Given the description of an element on the screen output the (x, y) to click on. 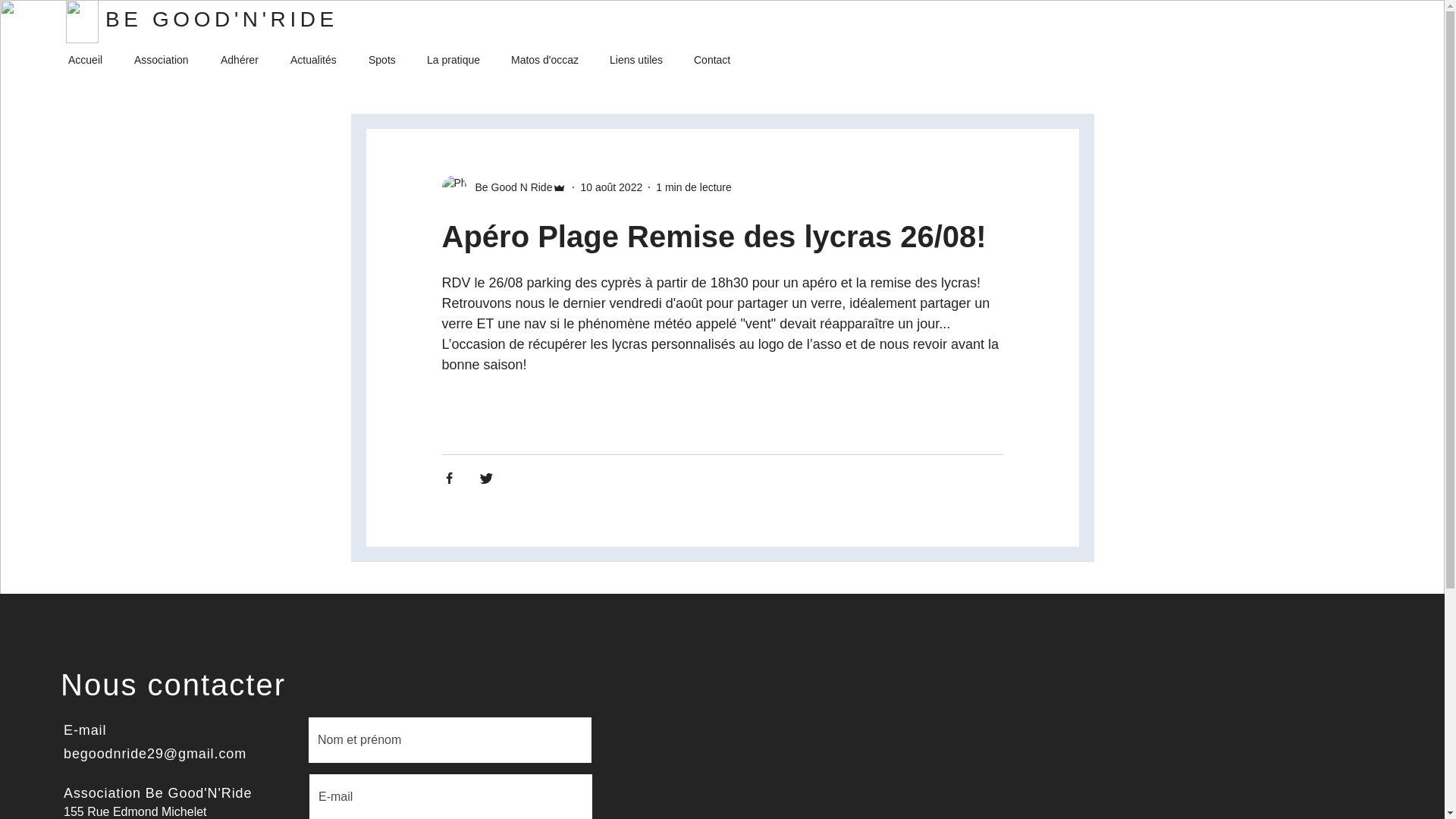
Matos d'occaz Element type: text (548, 60)
La pratique Element type: text (457, 60)
begoodnride29@gmail.com Element type: text (154, 753)
Contact Element type: text (715, 60)
Association Element type: text (165, 60)
Spots Element type: text (386, 60)
Liens utiles Element type: text (640, 60)
LOGO.png Element type: hover (81, 21)
Be Good N Ride Element type: text (503, 187)
Accueil Element type: text (89, 60)
BE GOOD'N'RIDE Element type: text (221, 19)
